Given the description of an element on the screen output the (x, y) to click on. 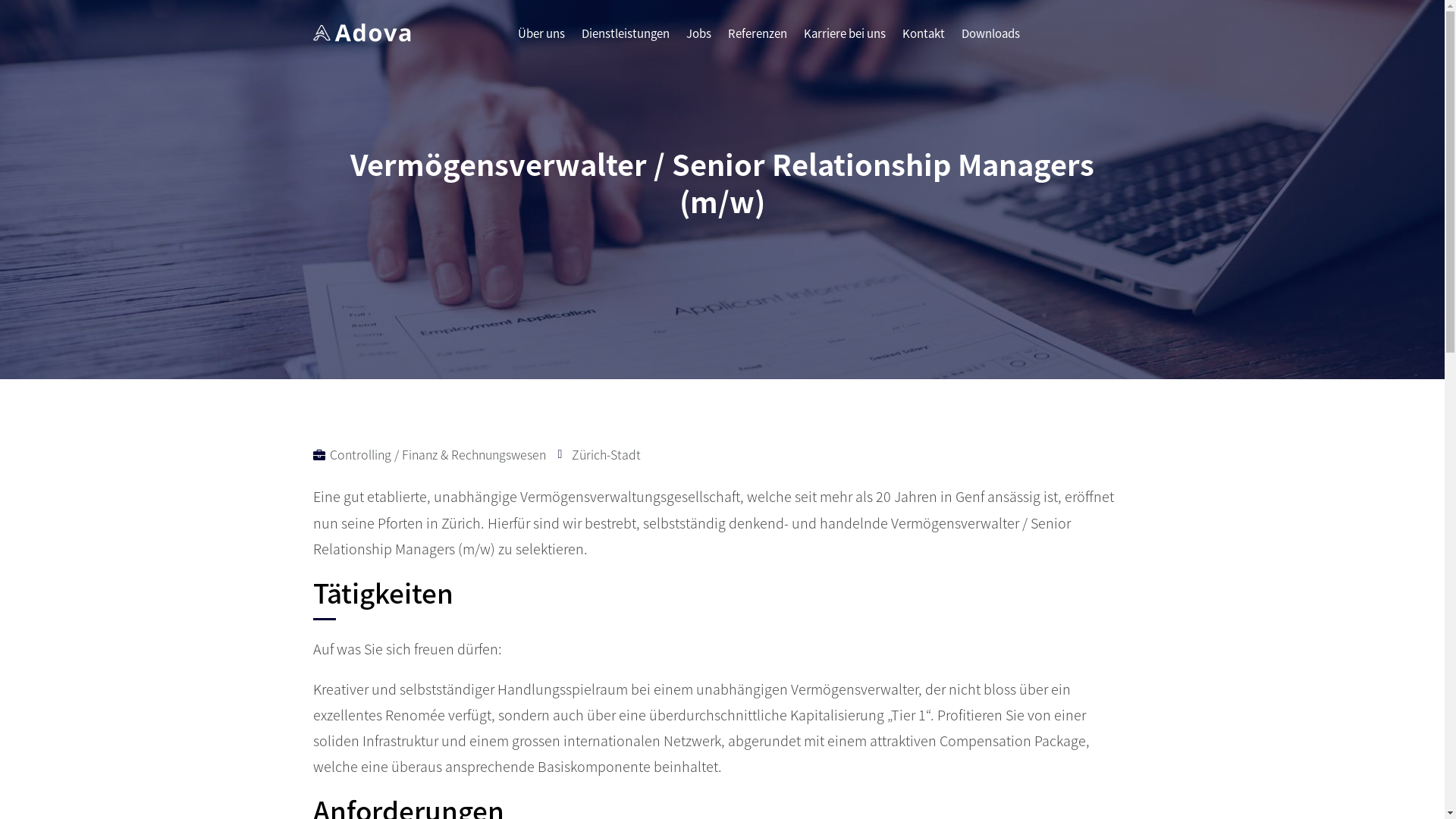
Jobs Element type: text (697, 39)
Referenzen Element type: text (757, 39)
Karriere bei uns Element type: text (844, 39)
white_logo Element type: hover (361, 32)
Kontakt Element type: text (923, 39)
Downloads Element type: text (990, 39)
Dienstleistungen Element type: text (624, 39)
